Given the description of an element on the screen output the (x, y) to click on. 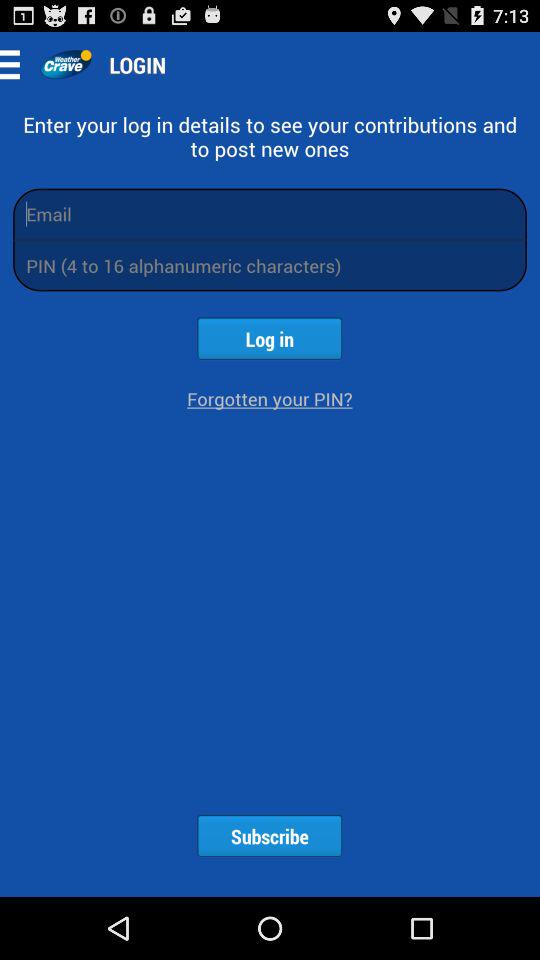
enter your pin here (269, 265)
